Given the description of an element on the screen output the (x, y) to click on. 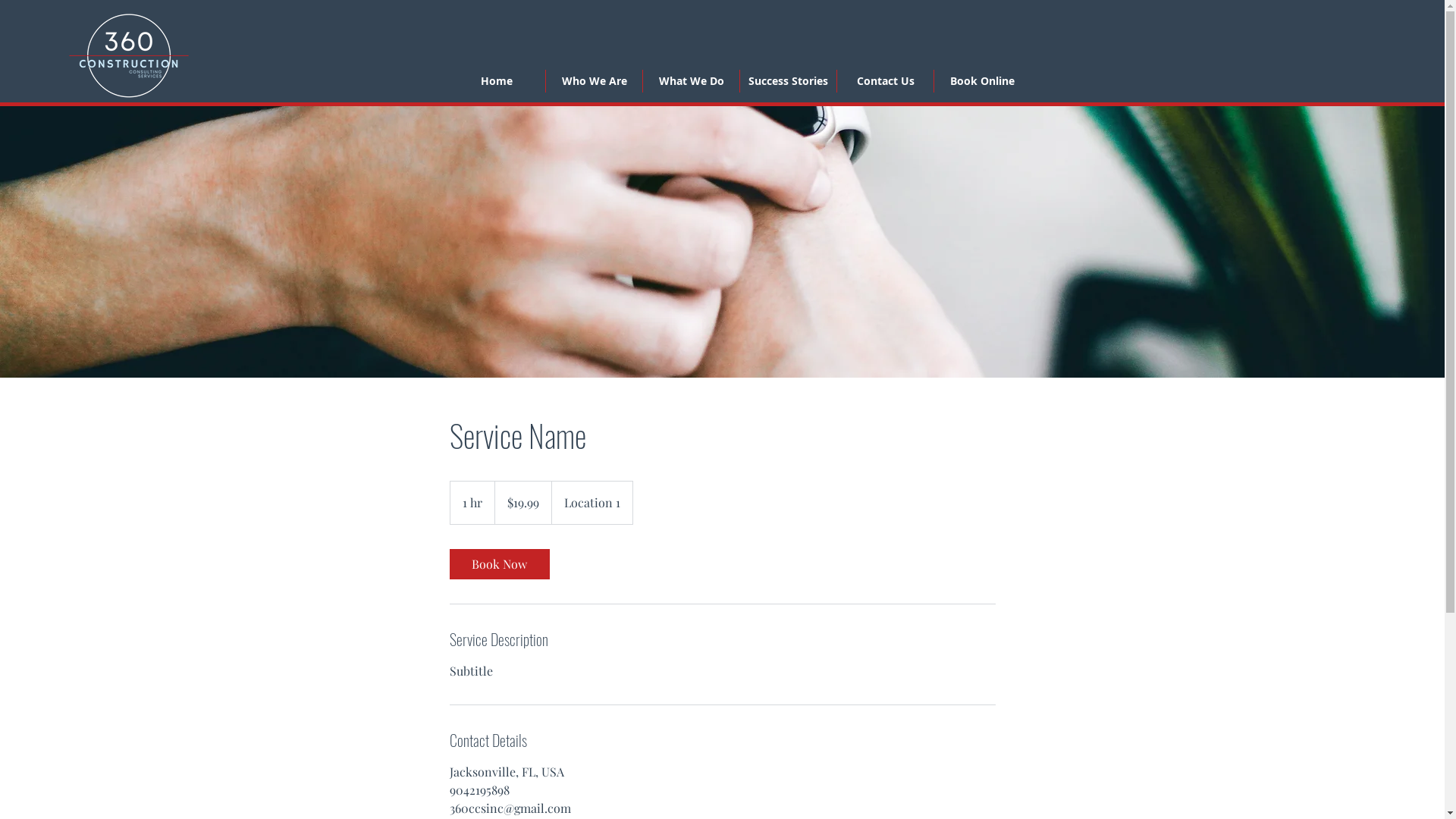
Book Online Element type: text (981, 80)
Contact Us Element type: text (884, 80)
Home Element type: text (496, 80)
Book Now Element type: text (498, 564)
Success Stories Element type: text (787, 80)
